Given the description of an element on the screen output the (x, y) to click on. 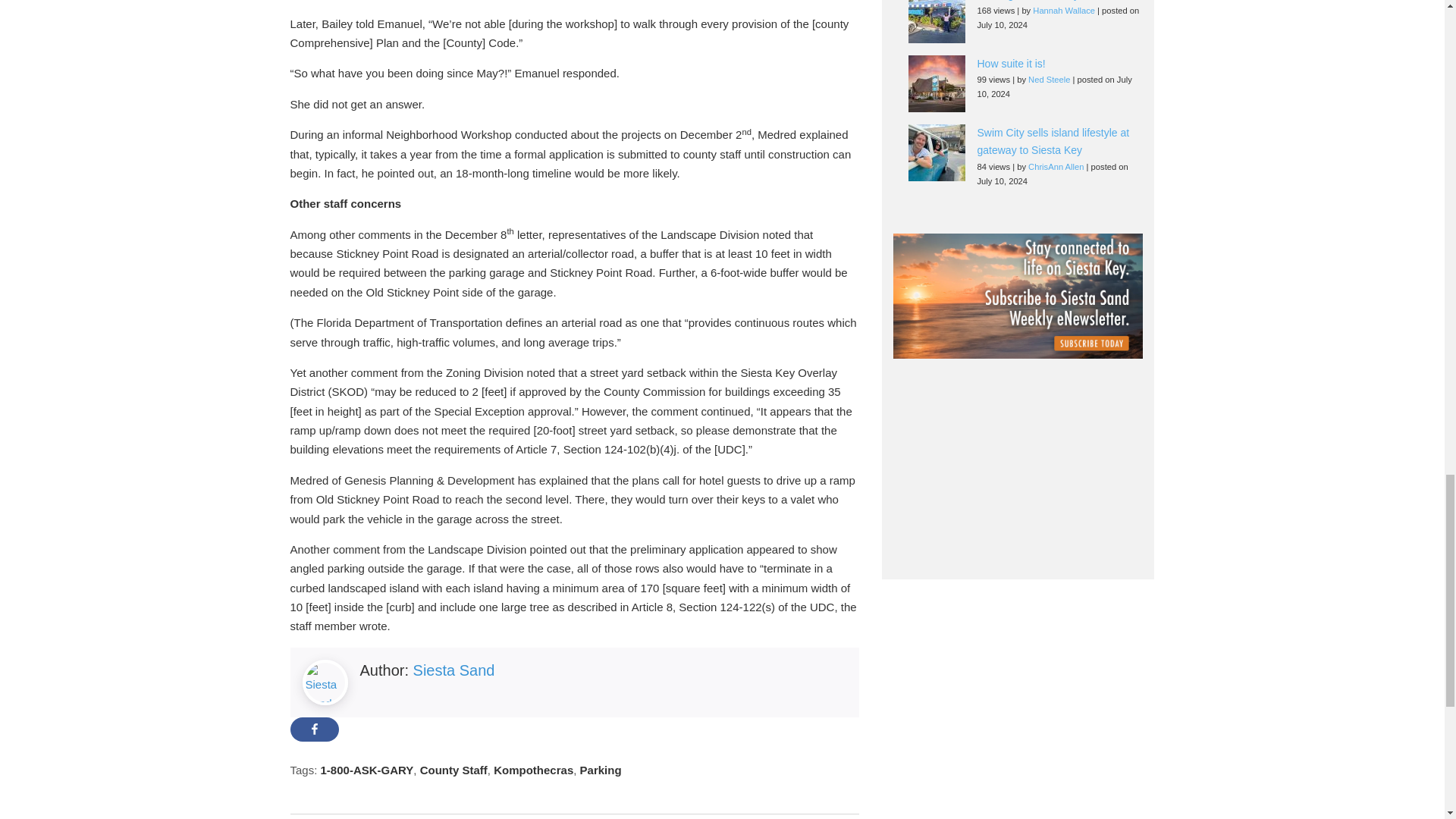
YouTube video player (1017, 463)
Share on Facebook (313, 729)
